Given the description of an element on the screen output the (x, y) to click on. 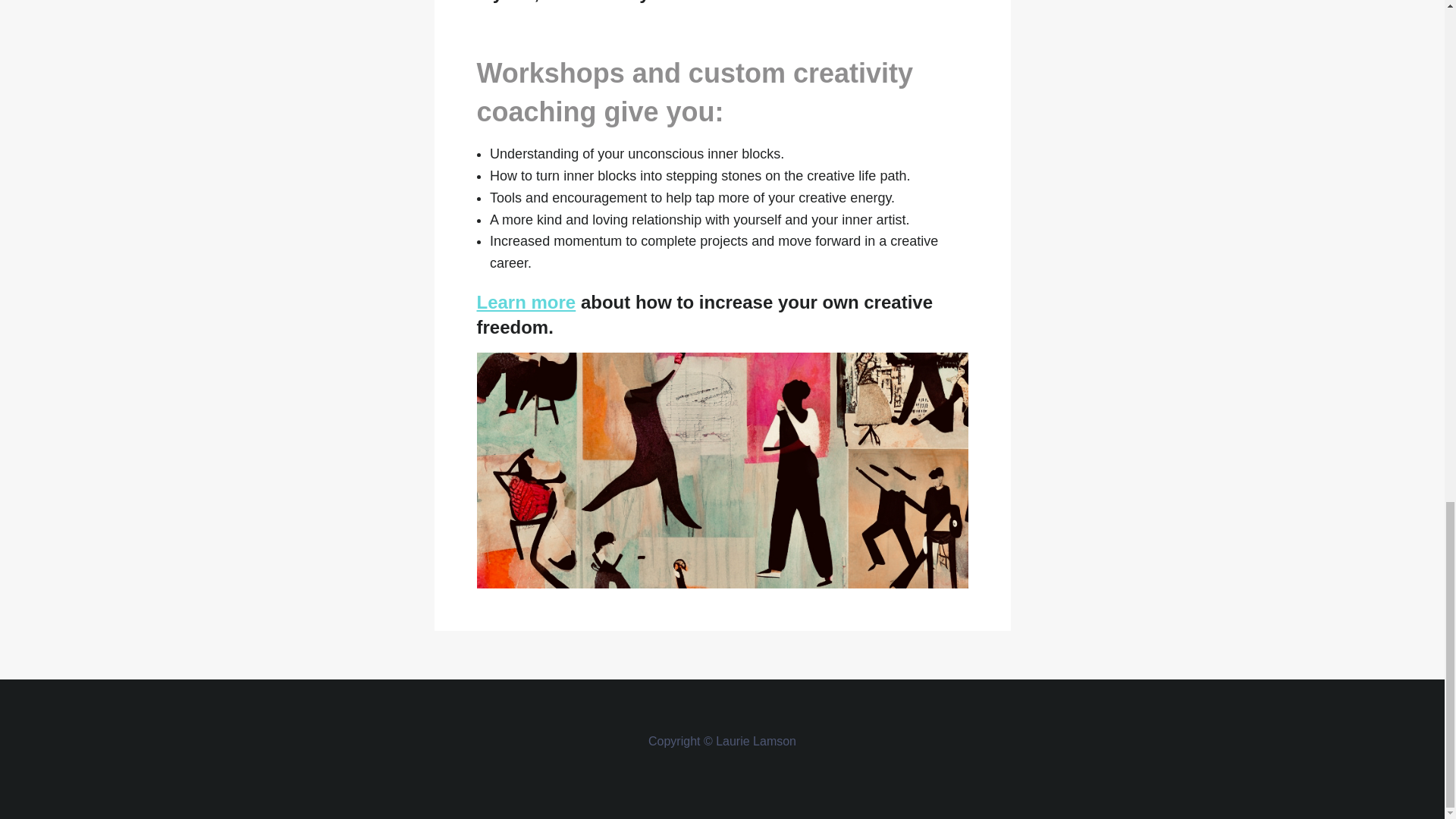
Learn more (525, 301)
